Given the description of an element on the screen output the (x, y) to click on. 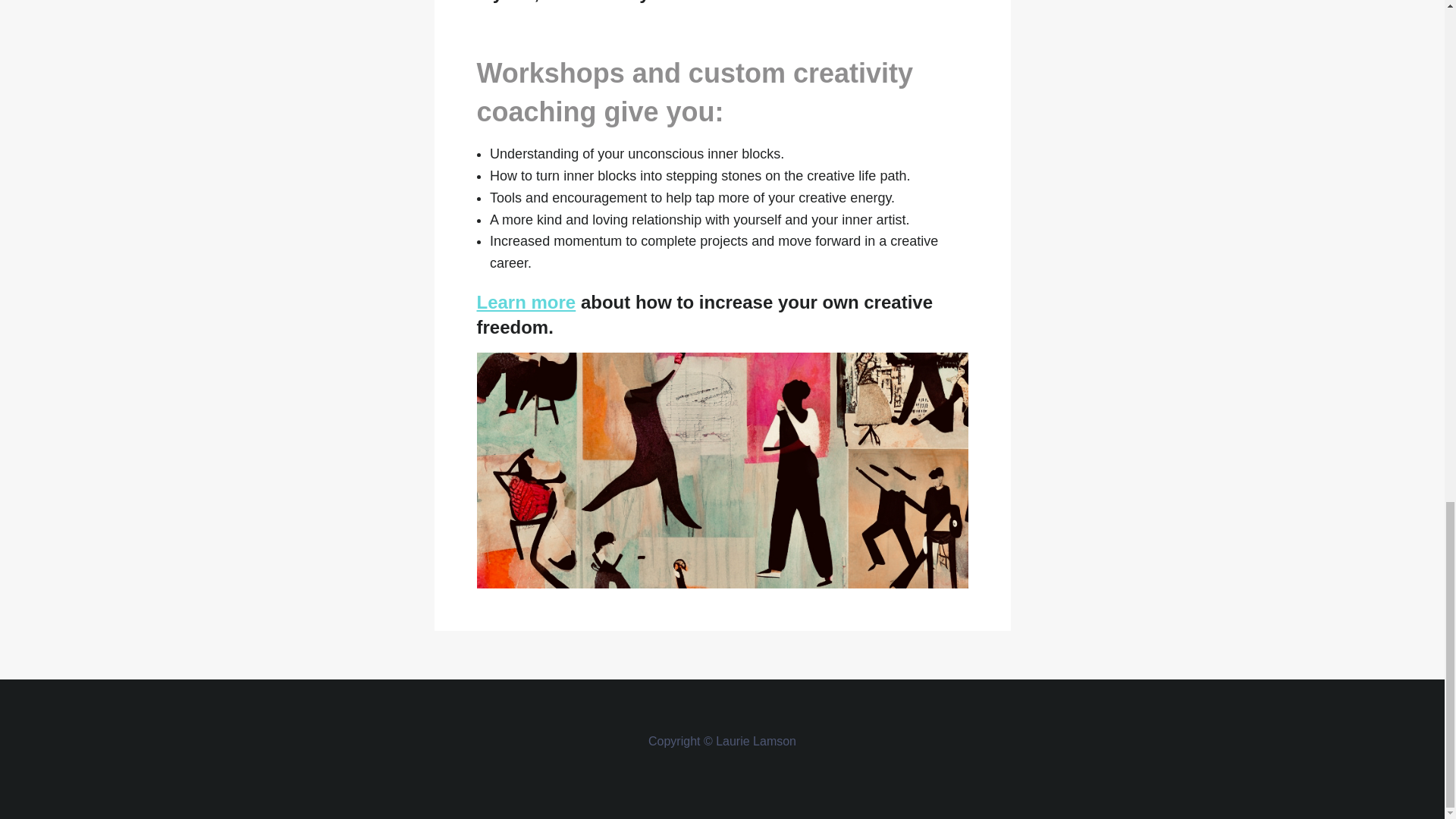
Learn more (525, 301)
